Given the description of an element on the screen output the (x, y) to click on. 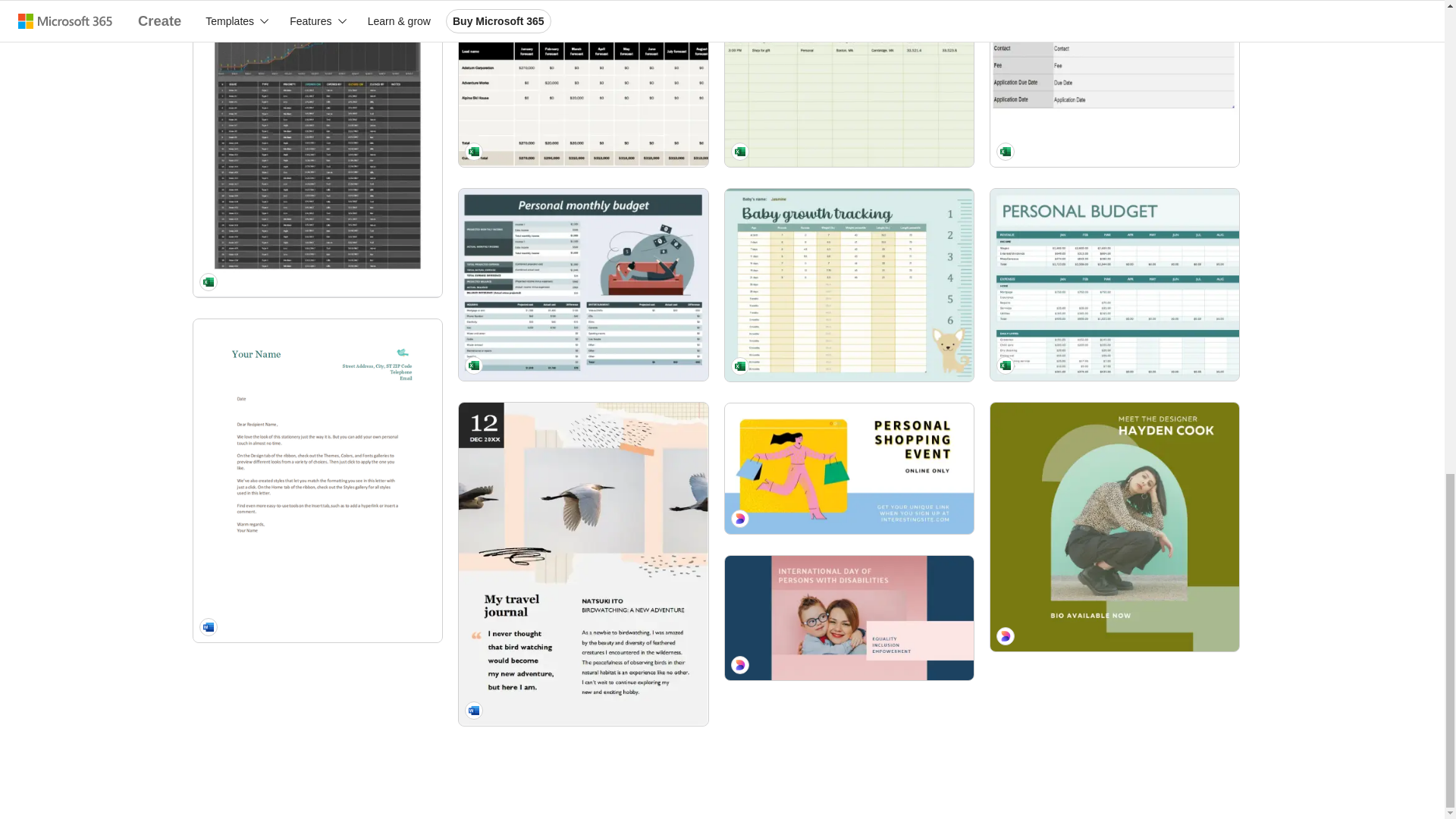
Celebrating persons with disabilities pink modern-simple (849, 618)
Simple personal budget blue modern-simple (1114, 285)
Personal ad blue modern-simple (849, 468)
Personal monthly budget spreadsheet green modern-simple (582, 285)
Baby growth tracker green whimsical color block (849, 285)
Mileage log green modern simple (849, 83)
Small business sales lead tracker brown modern simple (582, 83)
College comparison tracker green modern-simple (1114, 83)
